Given the description of an element on the screen output the (x, y) to click on. 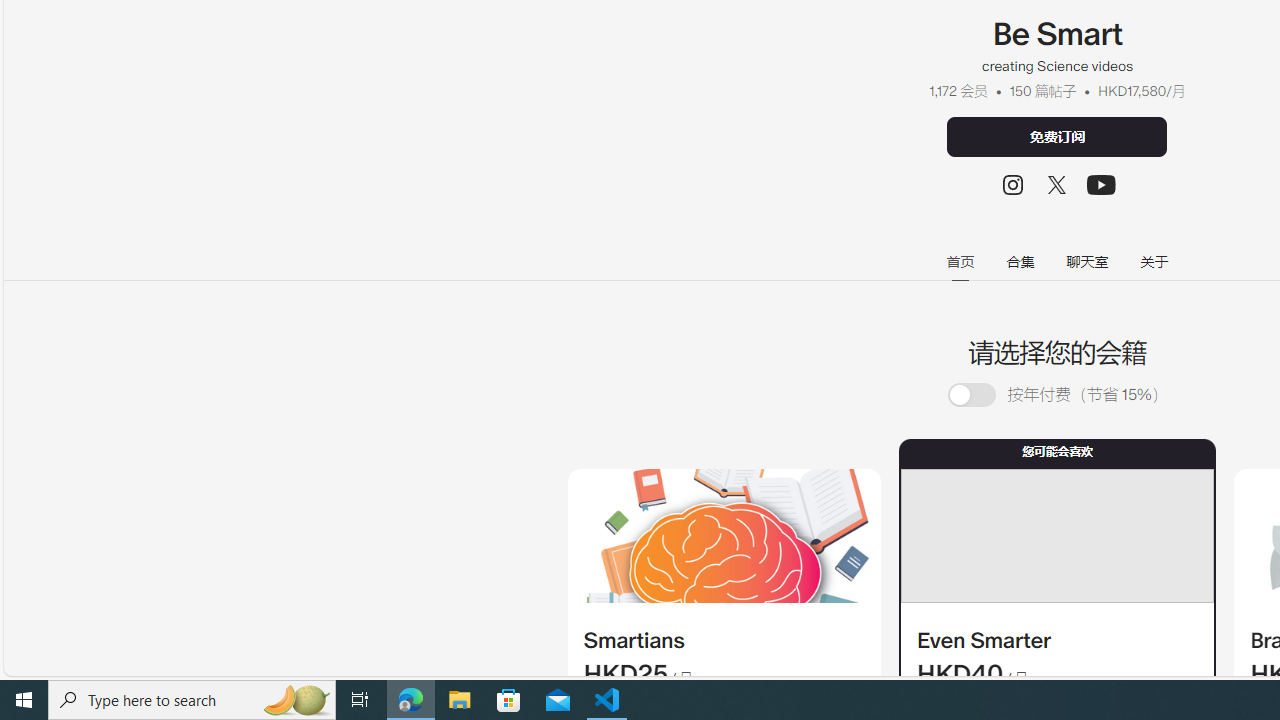
Loading (982, 395)
Class: sc-1a2jhmw-3 djwfLg (1056, 536)
Loading (971, 395)
Class: sc-jrQzAO HeRcC sc-1b5vbhn-1 hqVCmM (1101, 184)
